Given the description of an element on the screen output the (x, y) to click on. 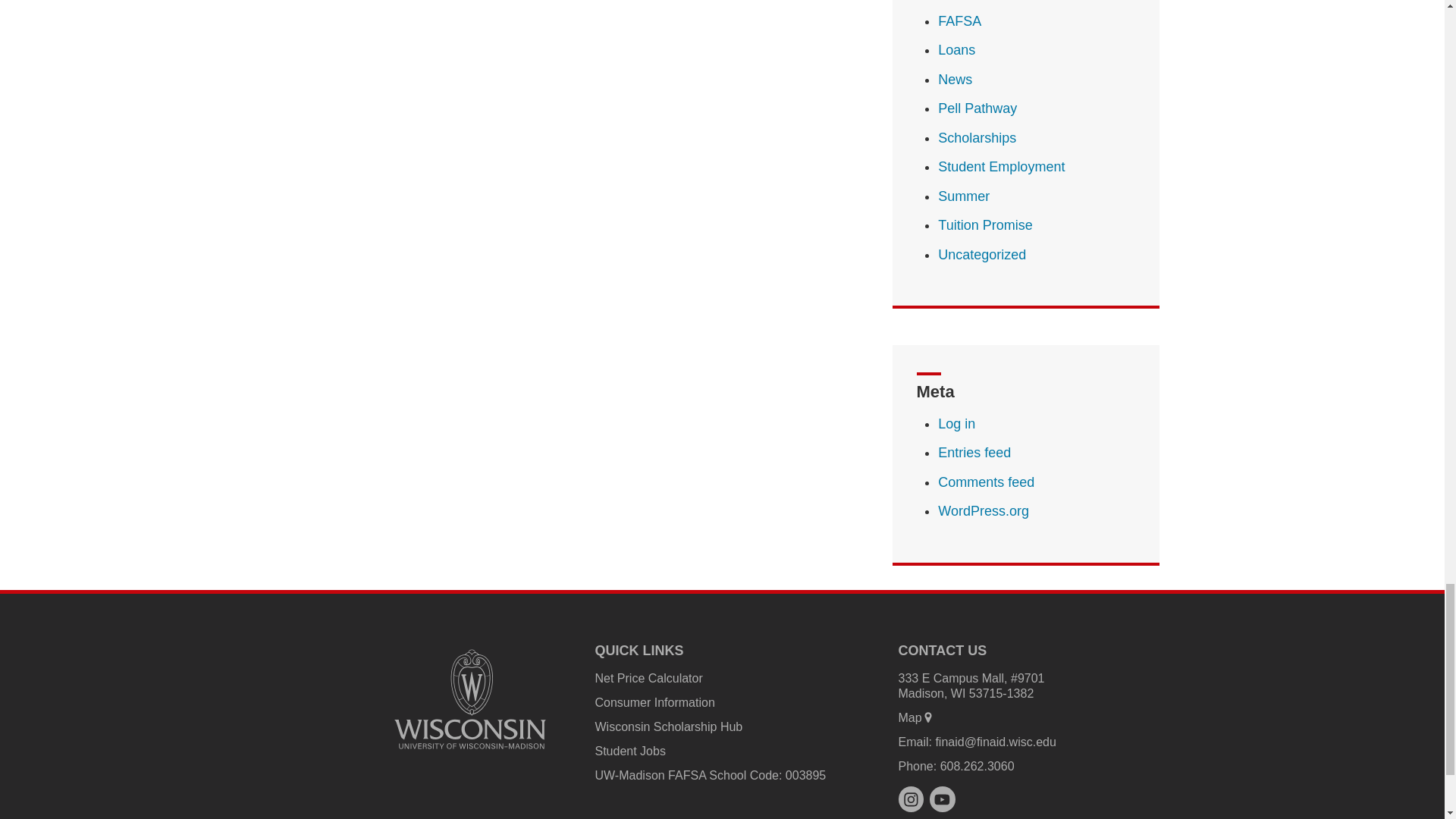
instagram (910, 799)
map marker (927, 717)
University logo that links to main university website (470, 698)
youtube (941, 799)
